Given the description of an element on the screen output the (x, y) to click on. 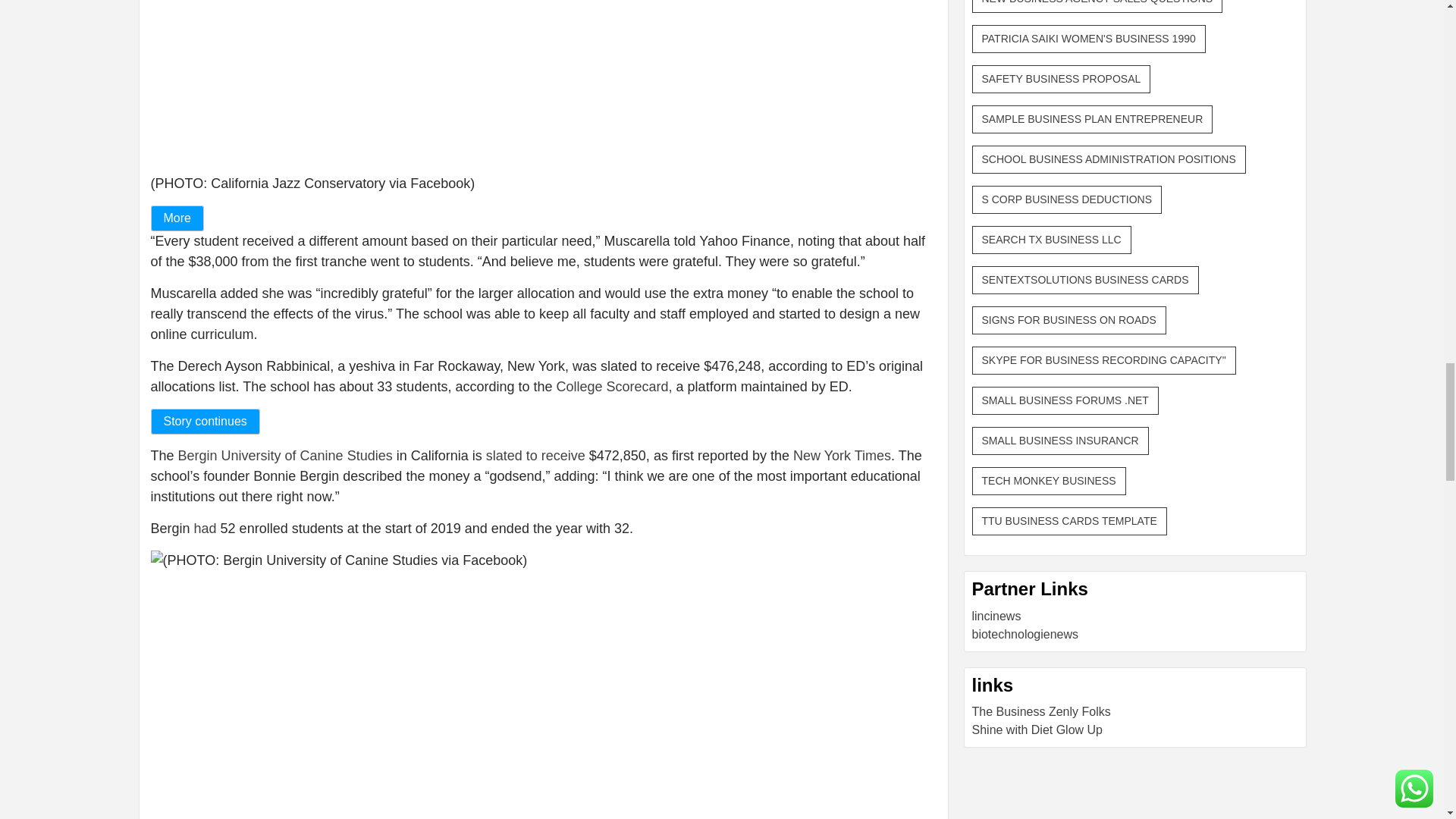
Story continues (204, 421)
More (176, 217)
New York Times (842, 455)
College Scorecard, (614, 386)
Bergin University of Canine Studies (285, 455)
had (204, 528)
slated to receive (535, 455)
